Given the description of an element on the screen output the (x, y) to click on. 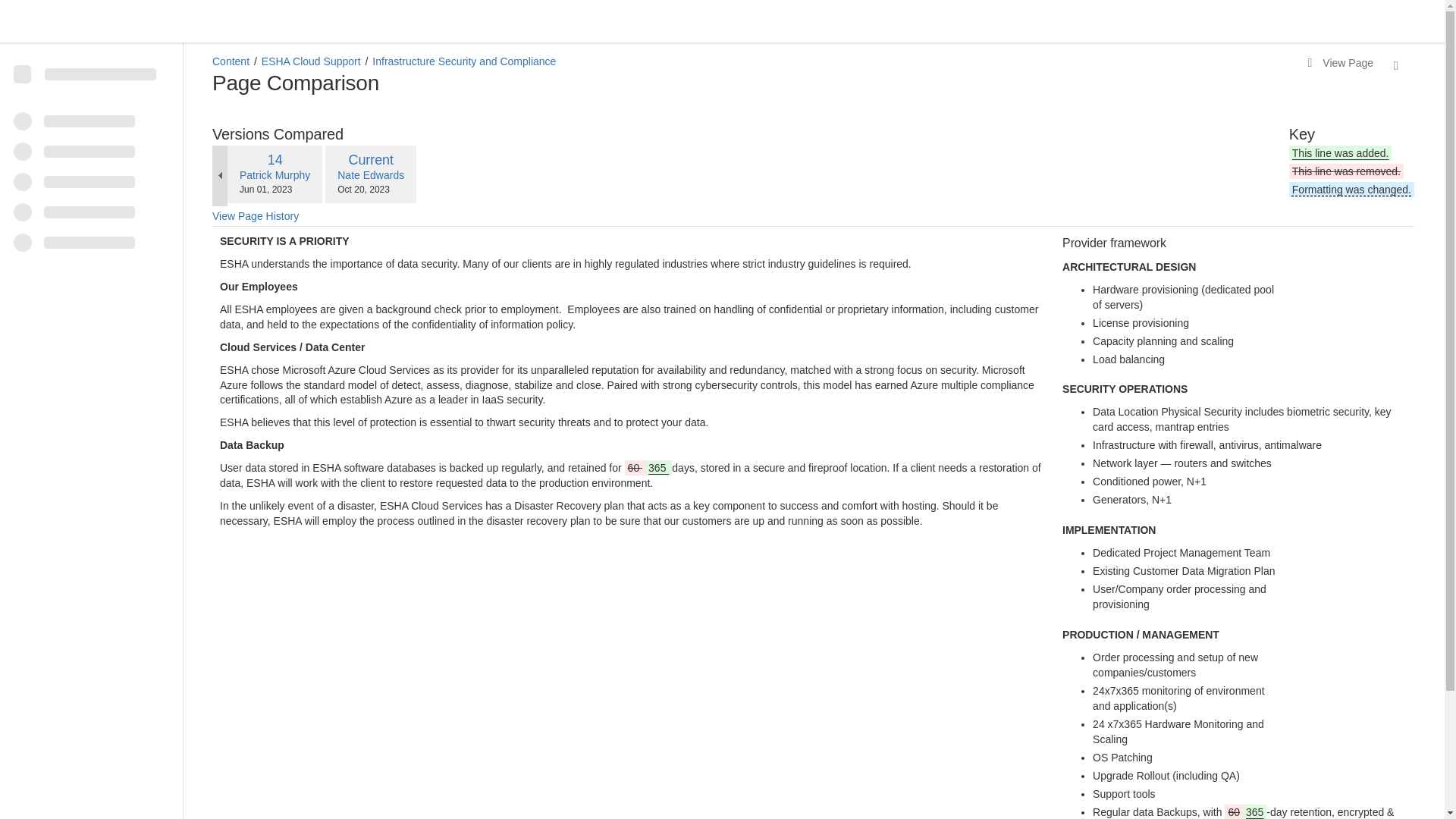
View Page (1339, 63)
ESHA Cloud Support (311, 61)
Content (230, 61)
Infrastructure Security and Compliance (464, 61)
View Page History (370, 159)
Nate Edwards (255, 216)
Patrick Murphy (275, 159)
